Given the description of an element on the screen output the (x, y) to click on. 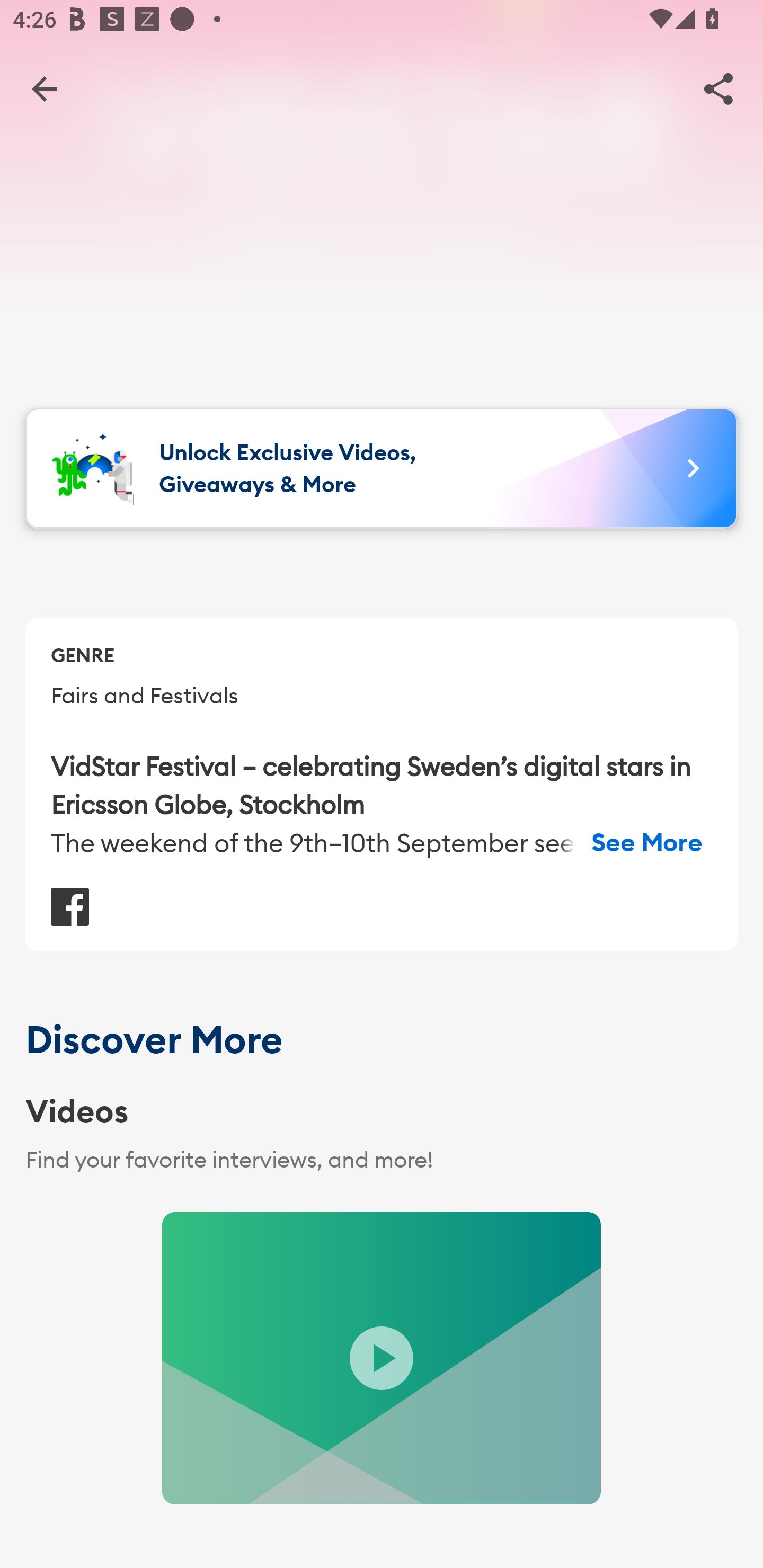
BackButton (44, 88)
Share (718, 88)
Unlock Exclusive Videos,
Giveaways & More (381, 467)
See More (646, 842)
